Given the description of an element on the screen output the (x, y) to click on. 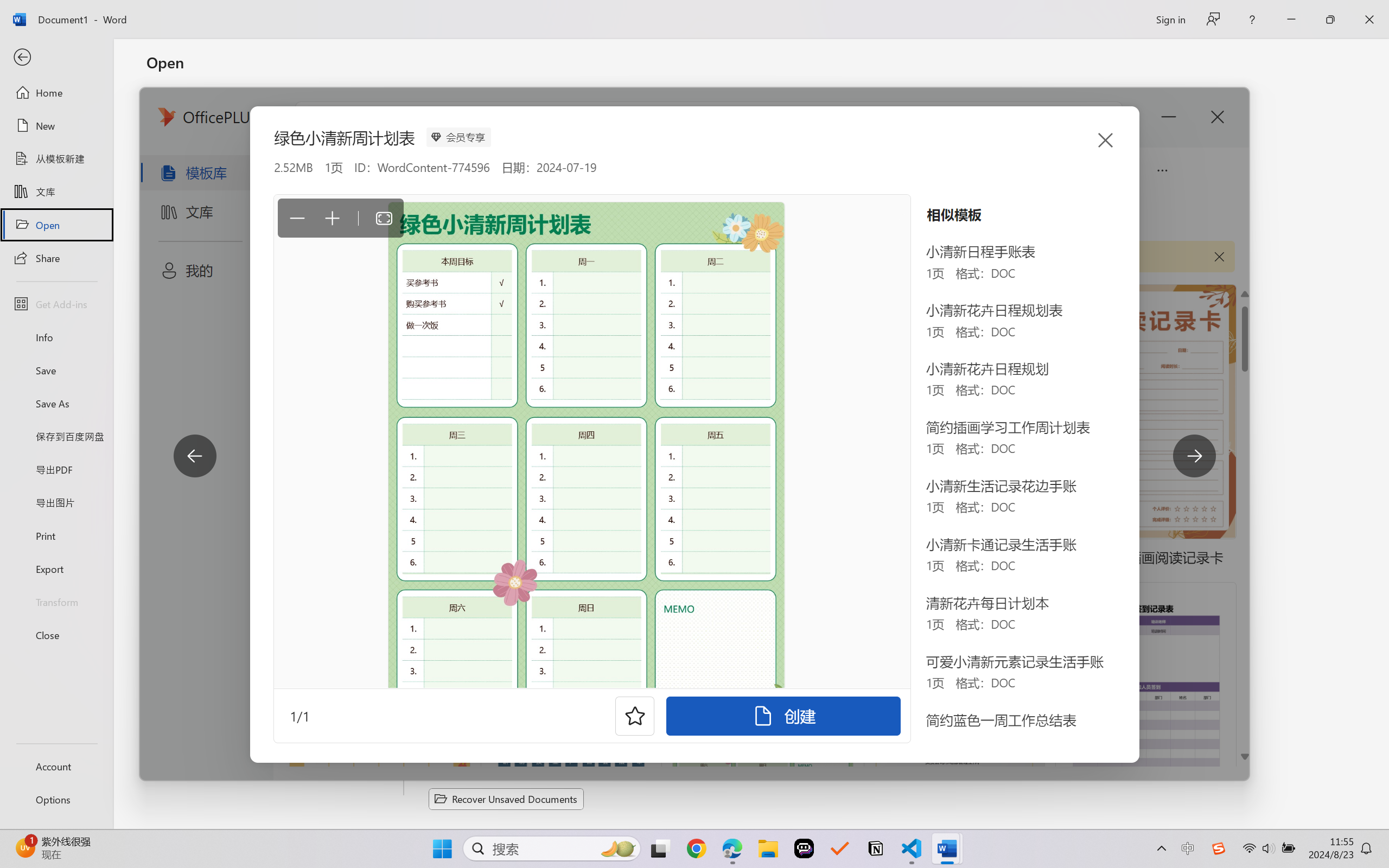
New (56, 125)
Save As (56, 403)
Add a Place (275, 302)
